Given the description of an element on the screen output the (x, y) to click on. 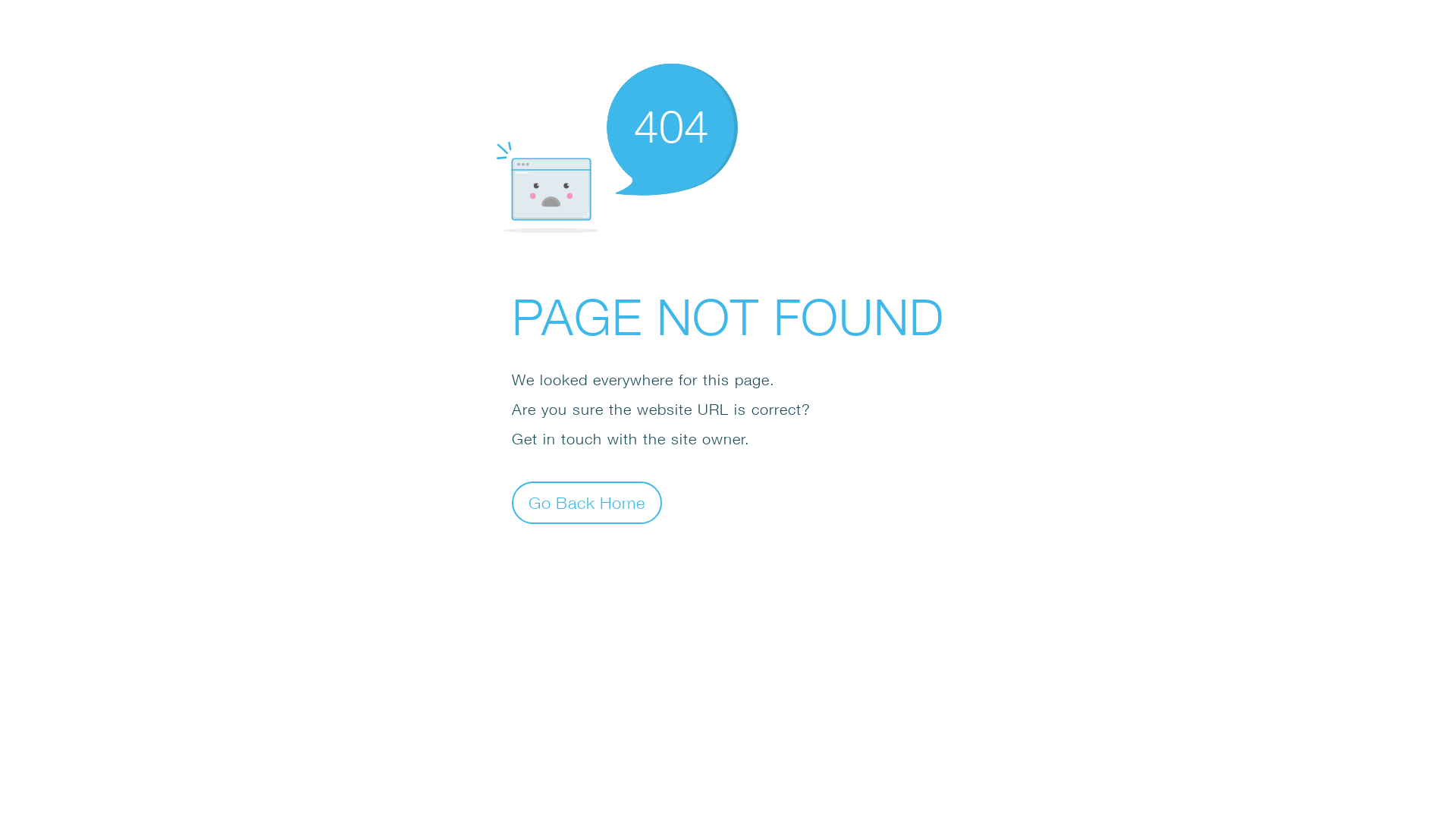
Go Back Home Element type: text (586, 502)
